Given the description of an element on the screen output the (x, y) to click on. 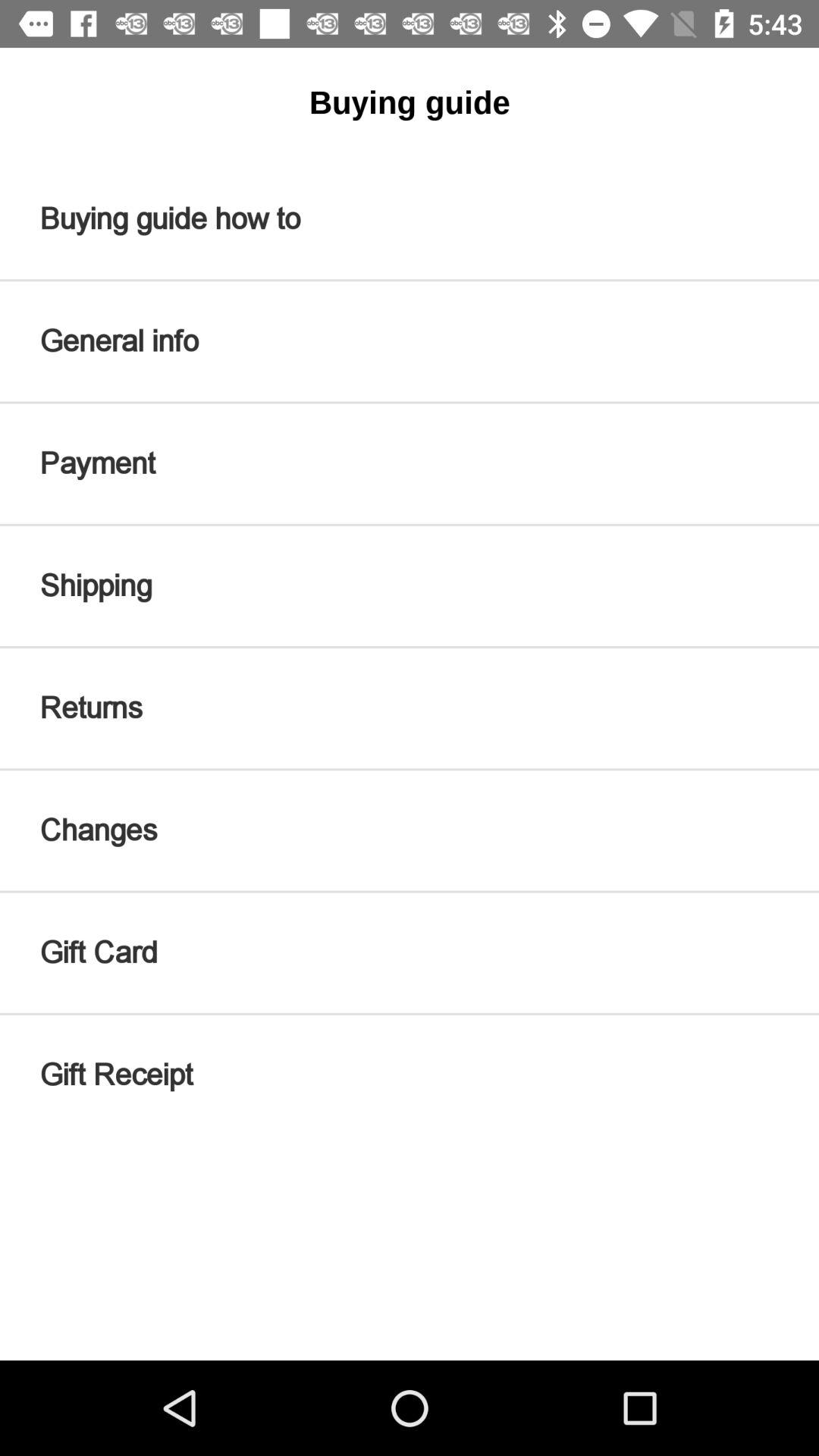
select the returns item (409, 708)
